Given the description of an element on the screen output the (x, y) to click on. 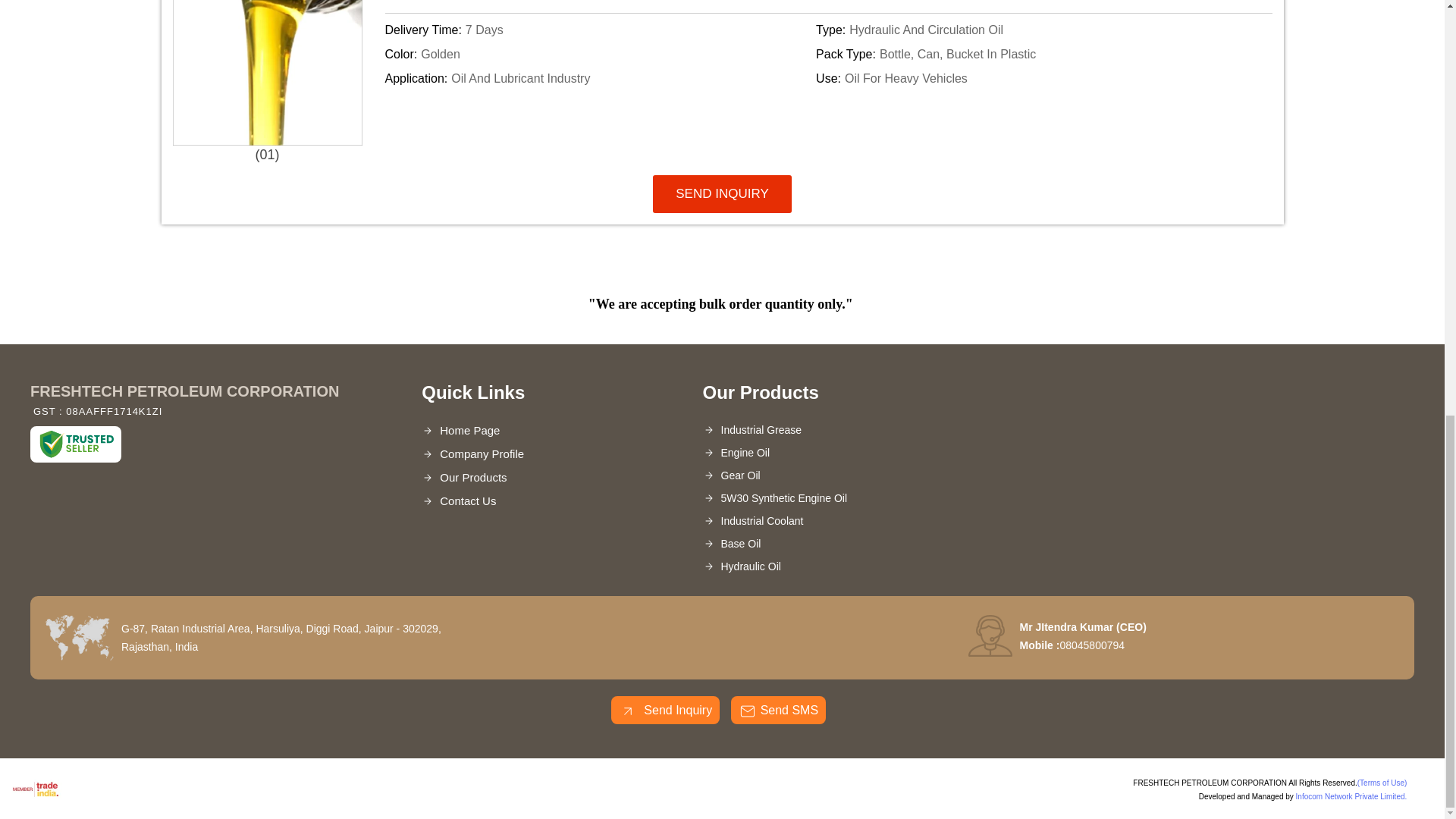
Send Inquiry (627, 710)
Delivery Time: 7 Days (597, 30)
Application: Oil And Lubricant Industry (597, 78)
Color: Golden (597, 54)
Type: Hydraulic And Circulation Oil (1028, 30)
Use: Oil For Heavy Vehicles (1028, 78)
Pack Type: Bottle, Can, Bucket In Plastic (1028, 54)
